Given the description of an element on the screen output the (x, y) to click on. 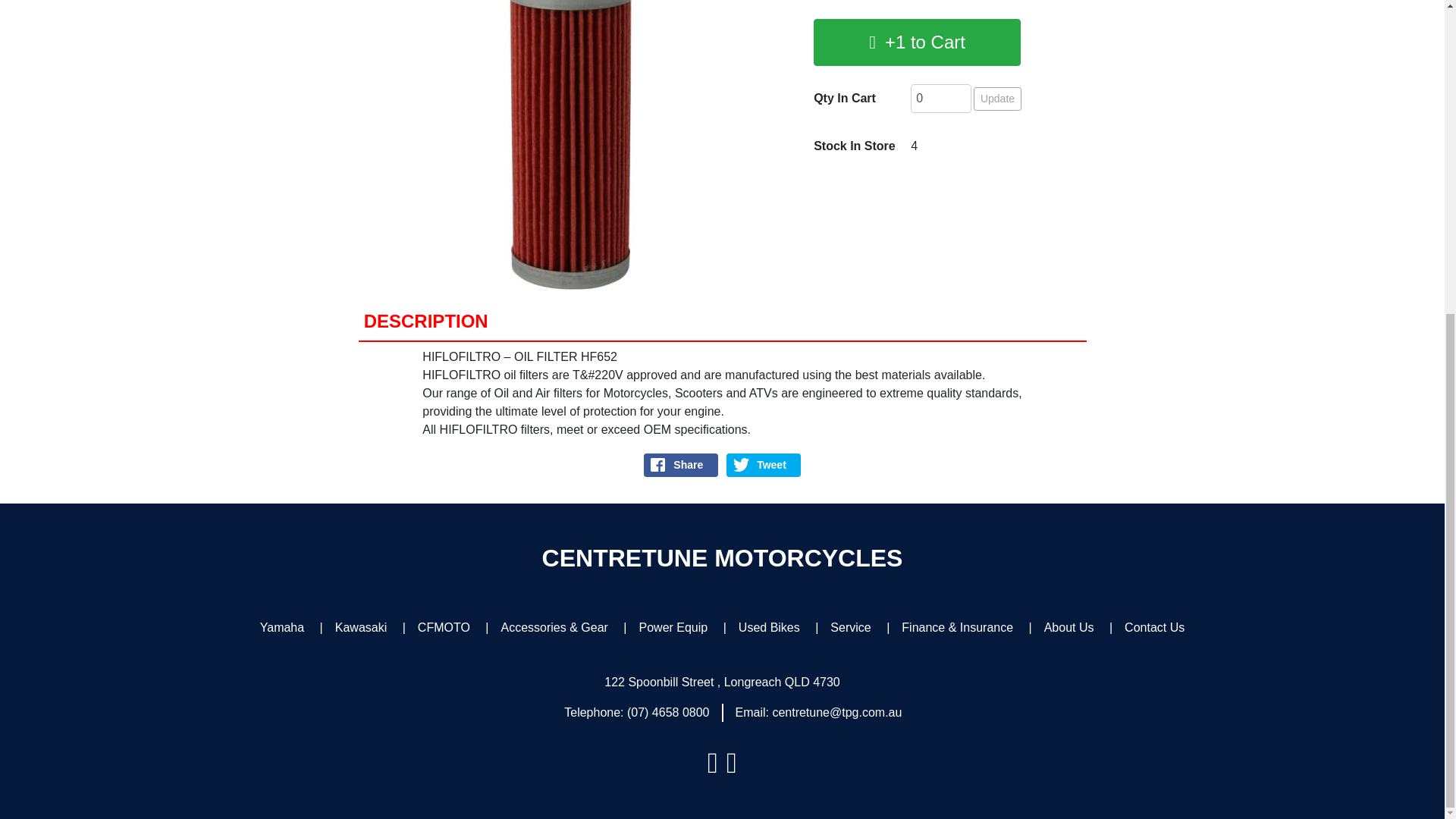
Yamaha (282, 626)
Share (680, 464)
Used Bikes (768, 626)
Power Equip (673, 626)
CFMOTO (443, 626)
Kawasaki (360, 626)
Update (998, 98)
Service (849, 626)
Tweet (763, 464)
0 (941, 98)
